Given the description of an element on the screen output the (x, y) to click on. 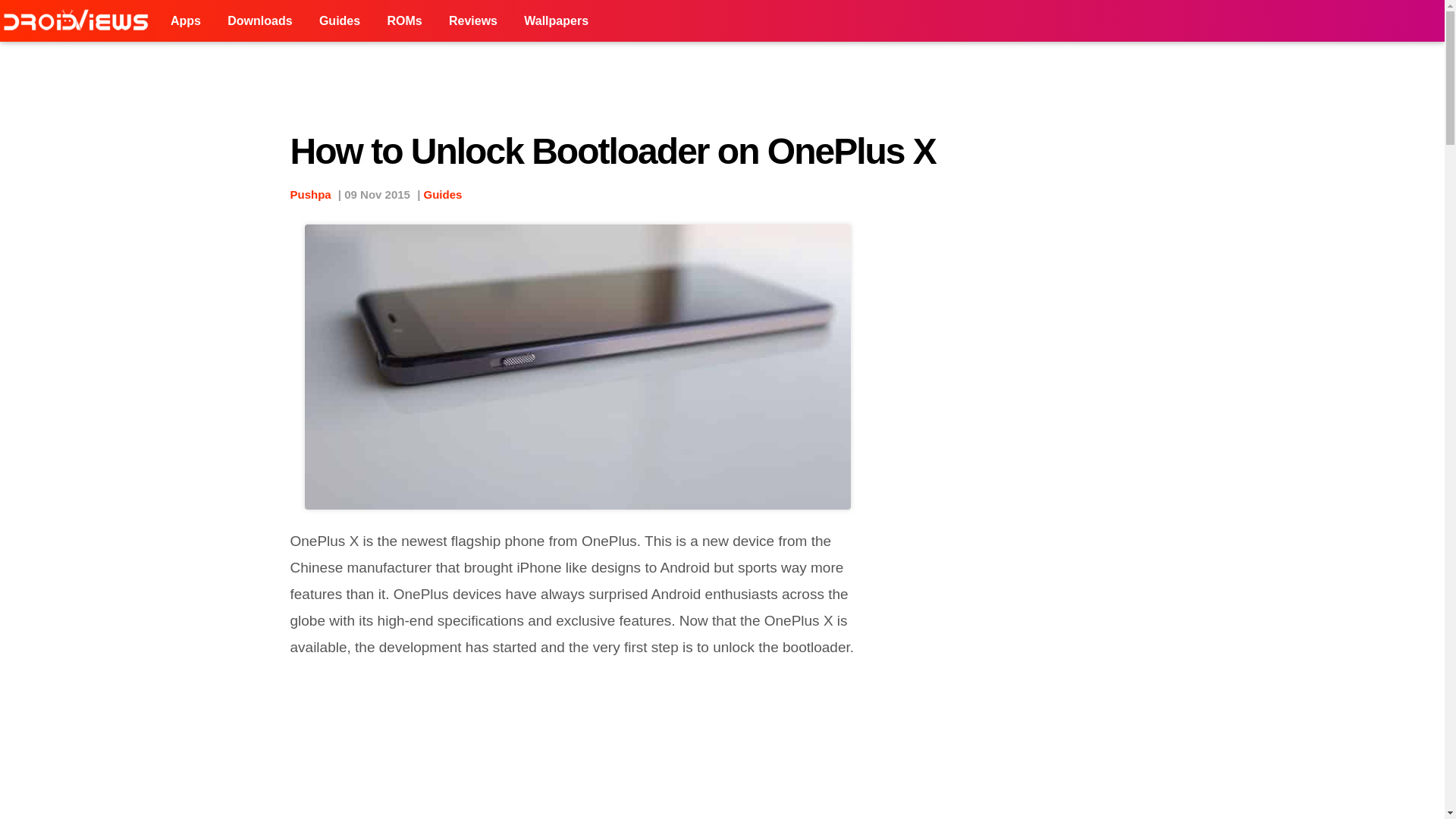
Apps (185, 20)
Downloads (258, 20)
DroidViews (79, 20)
Pushpa (309, 194)
Guides (443, 194)
ROMs (403, 20)
Reviews (473, 20)
Wallpapers (555, 20)
Guides (339, 20)
